Given the description of an element on the screen output the (x, y) to click on. 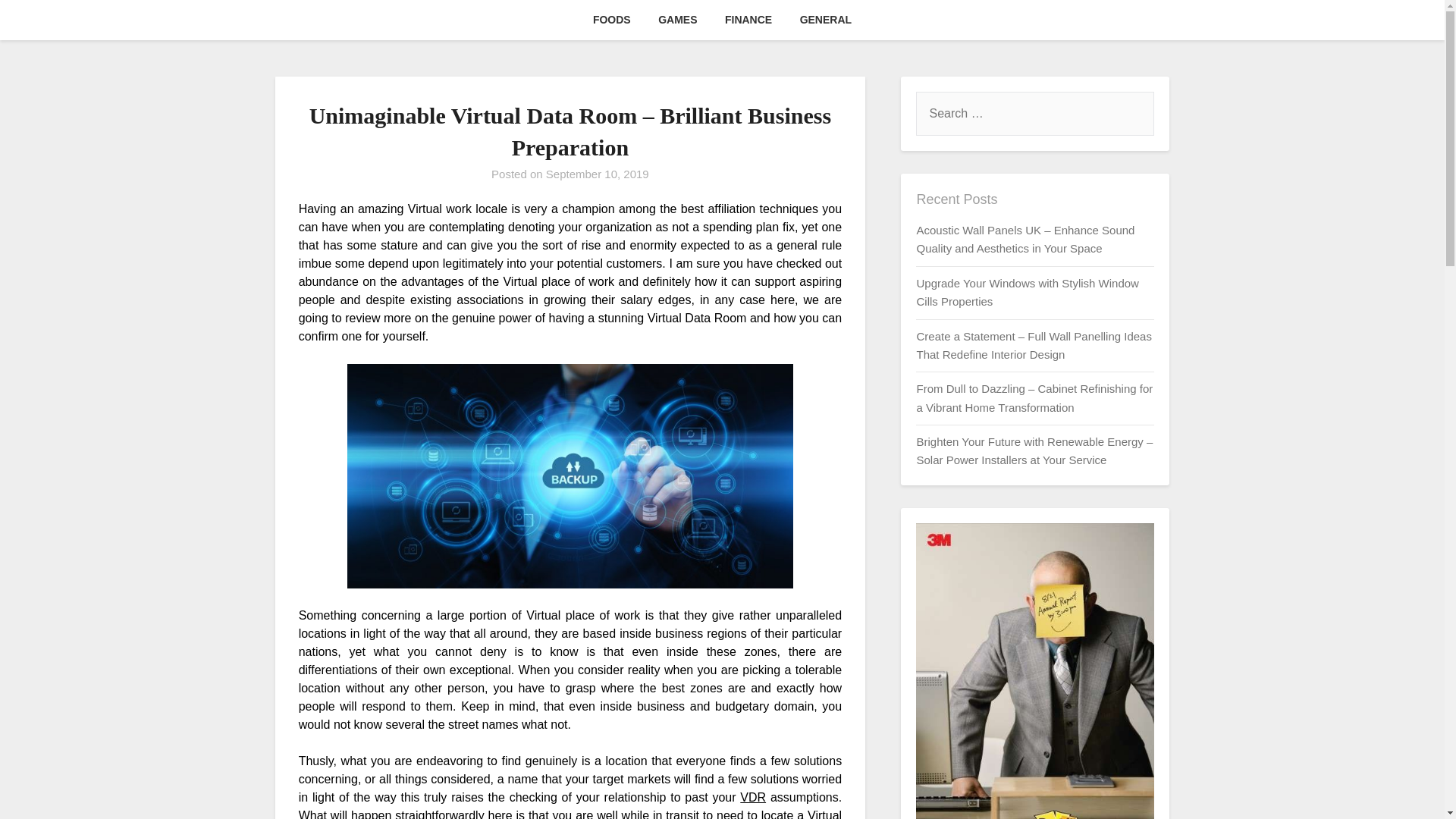
FOODS (611, 20)
FINANCE (748, 20)
GAMES (677, 20)
VDR (752, 797)
Search (37, 22)
September 10, 2019 (597, 173)
Upgrade Your Windows with Stylish Window Cills Properties (1026, 291)
GENERAL (825, 20)
